Given the description of an element on the screen output the (x, y) to click on. 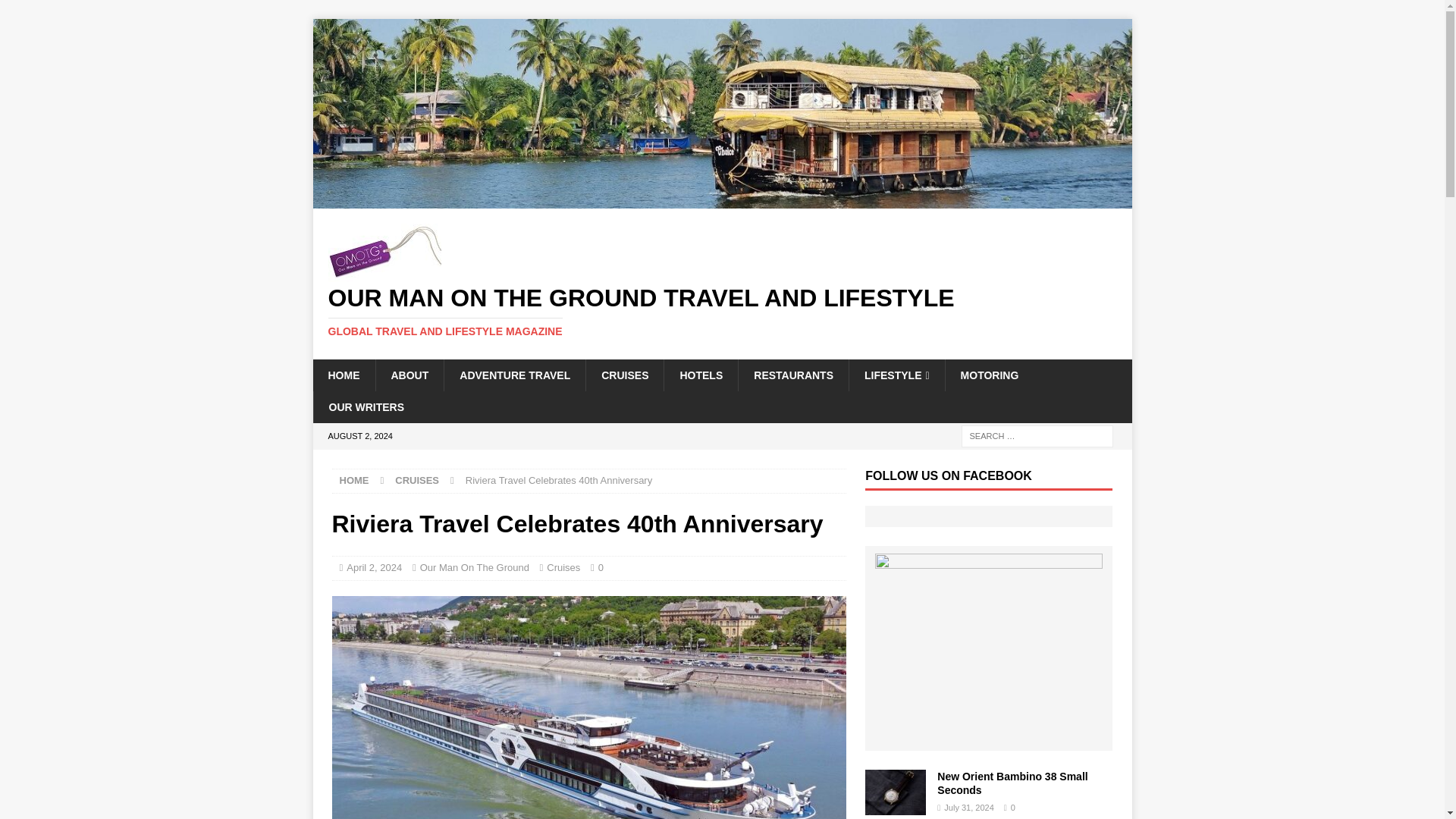
April 2, 2024 (373, 567)
CRUISES (416, 480)
MOTORING (988, 375)
Our Man On The Ground Travel and Lifestyle (722, 200)
Our Man On The Ground (474, 567)
ADVENTURE TRAVEL (514, 375)
HOME (343, 375)
Search (56, 11)
RESTAURANTS (793, 375)
ABOUT (409, 375)
riviera travel jane austen (588, 707)
HOTELS (700, 375)
OUR WRITERS (366, 407)
LIFESTYLE (896, 375)
